Given the description of an element on the screen output the (x, y) to click on. 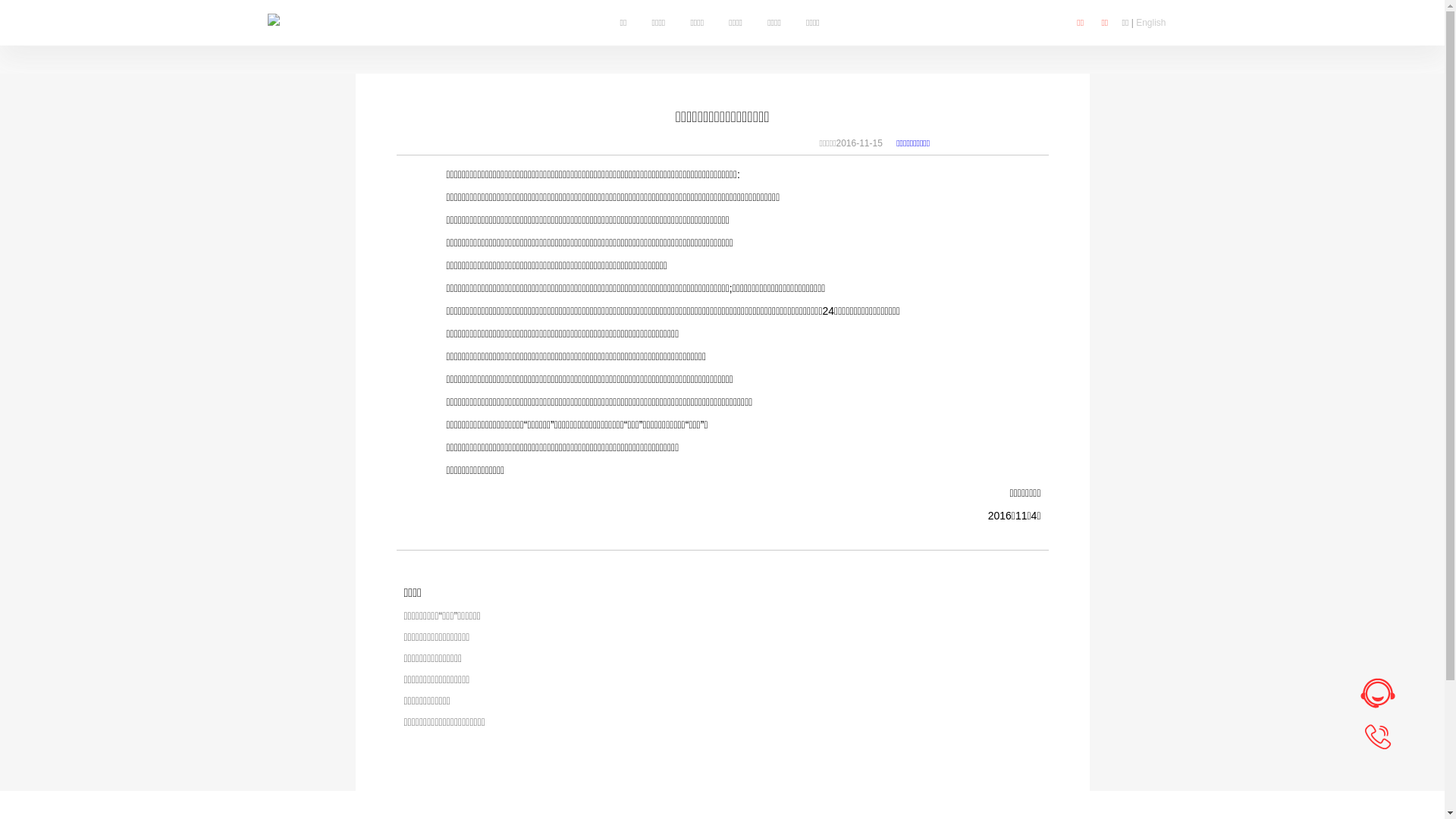
English Element type: text (1150, 22)
